Given the description of an element on the screen output the (x, y) to click on. 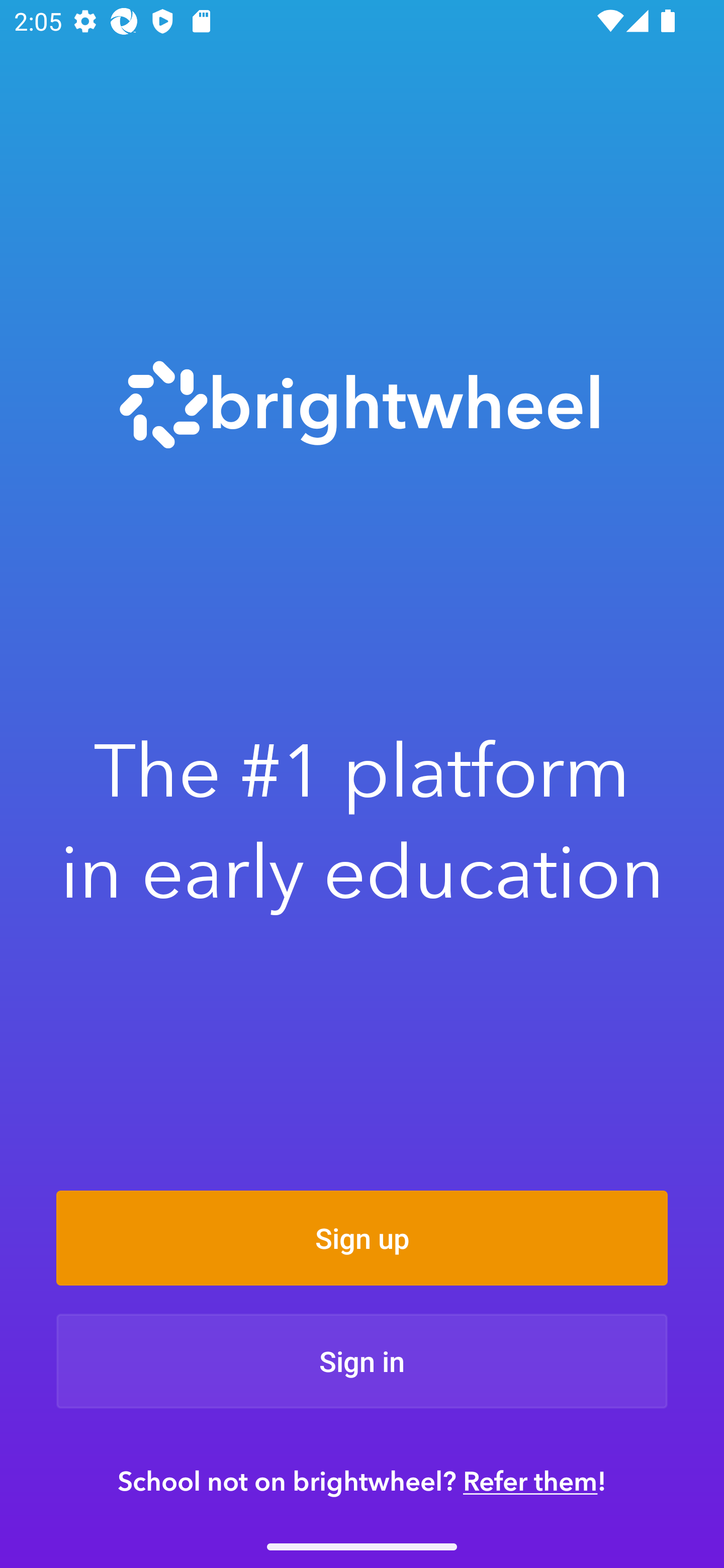
Sign up (361, 1237)
Sign in (361, 1360)
School not on brightwheel? Refer them! (361, 1480)
